Given the description of an element on the screen output the (x, y) to click on. 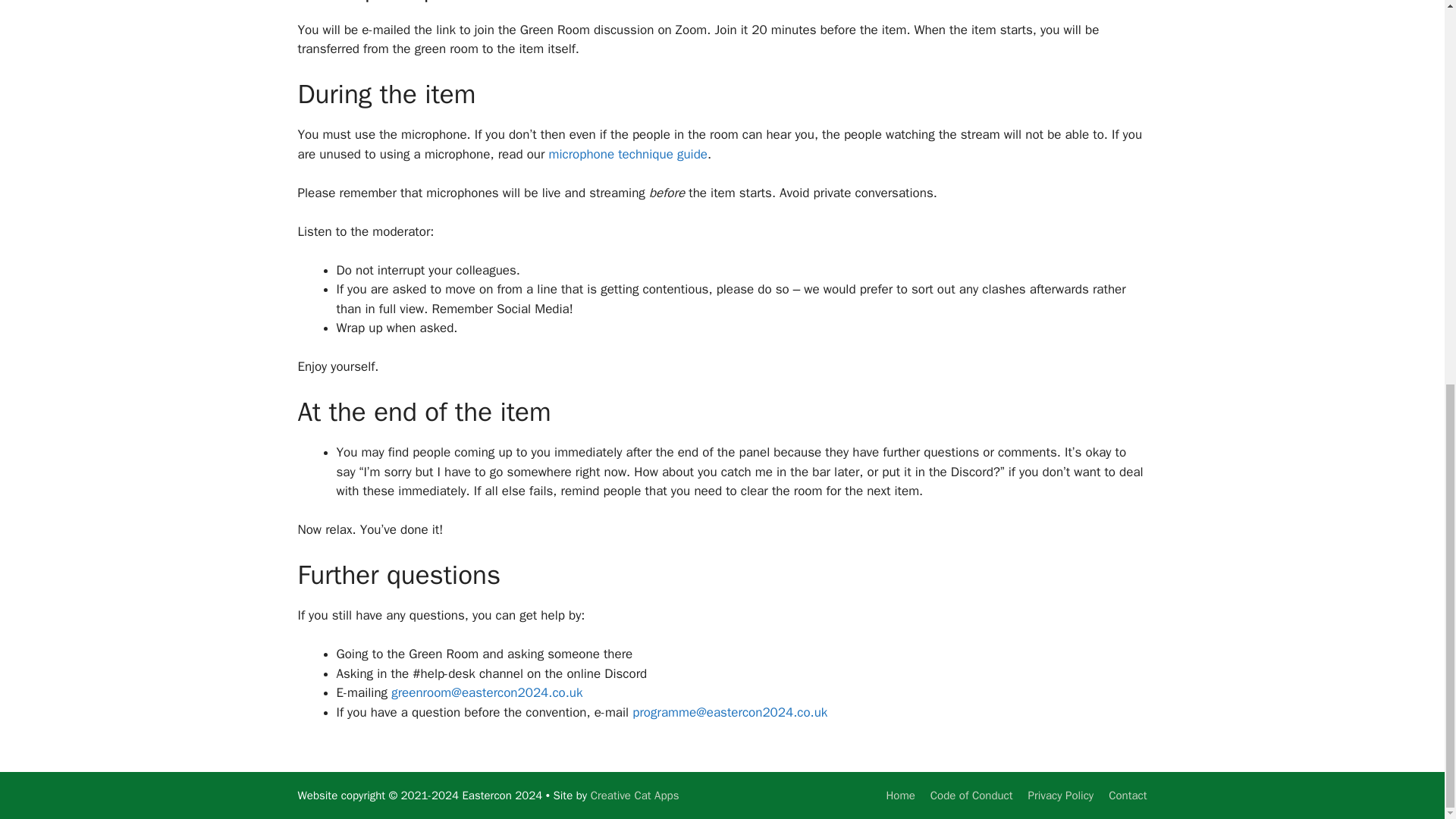
microphone technique guide (627, 154)
Home (899, 795)
